Given the description of an element on the screen output the (x, y) to click on. 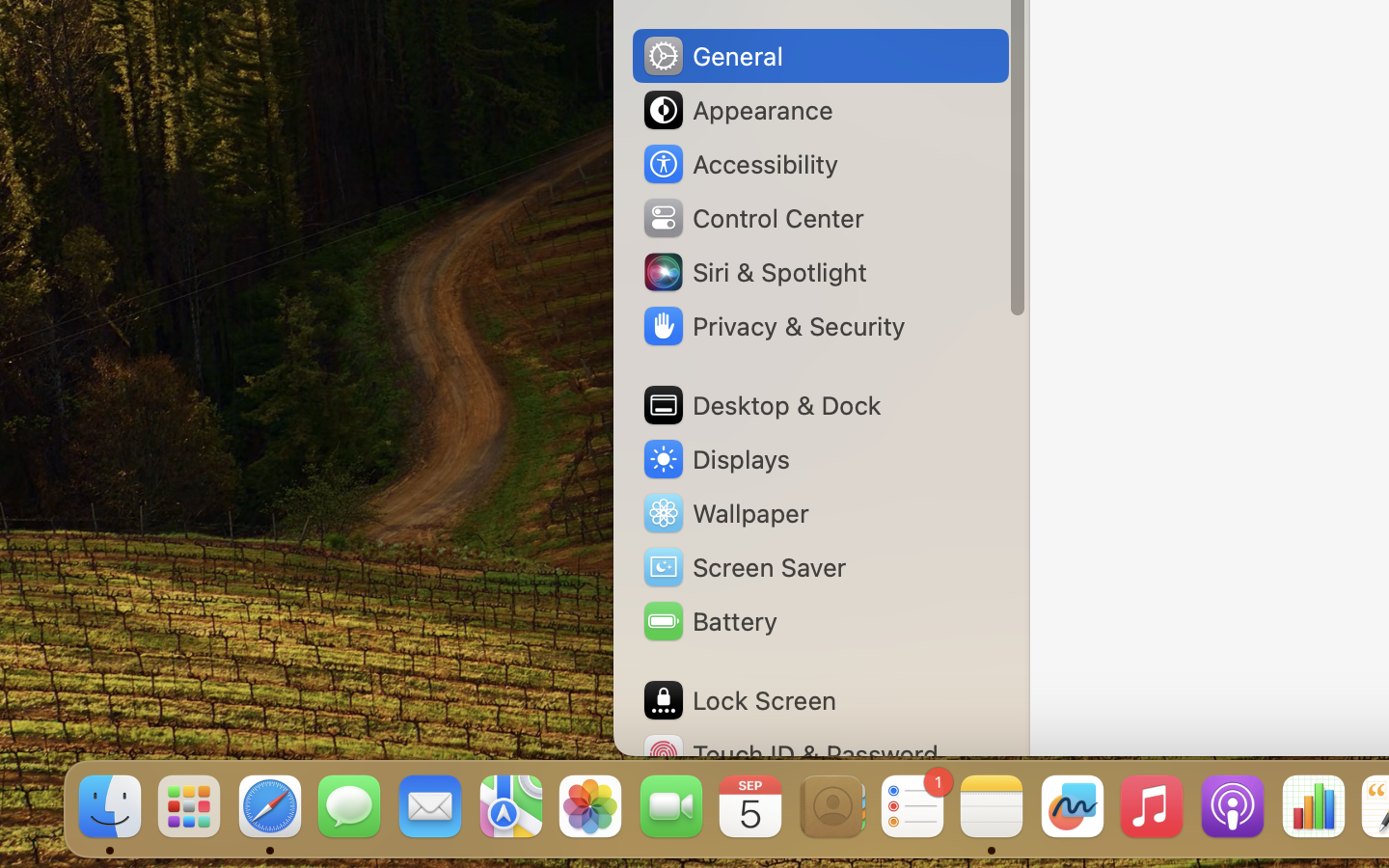
Privacy & Security Element type: AXStaticText (772, 325)
Appearance Element type: AXStaticText (736, 109)
Lock Screen Element type: AXStaticText (738, 700)
